Given the description of an element on the screen output the (x, y) to click on. 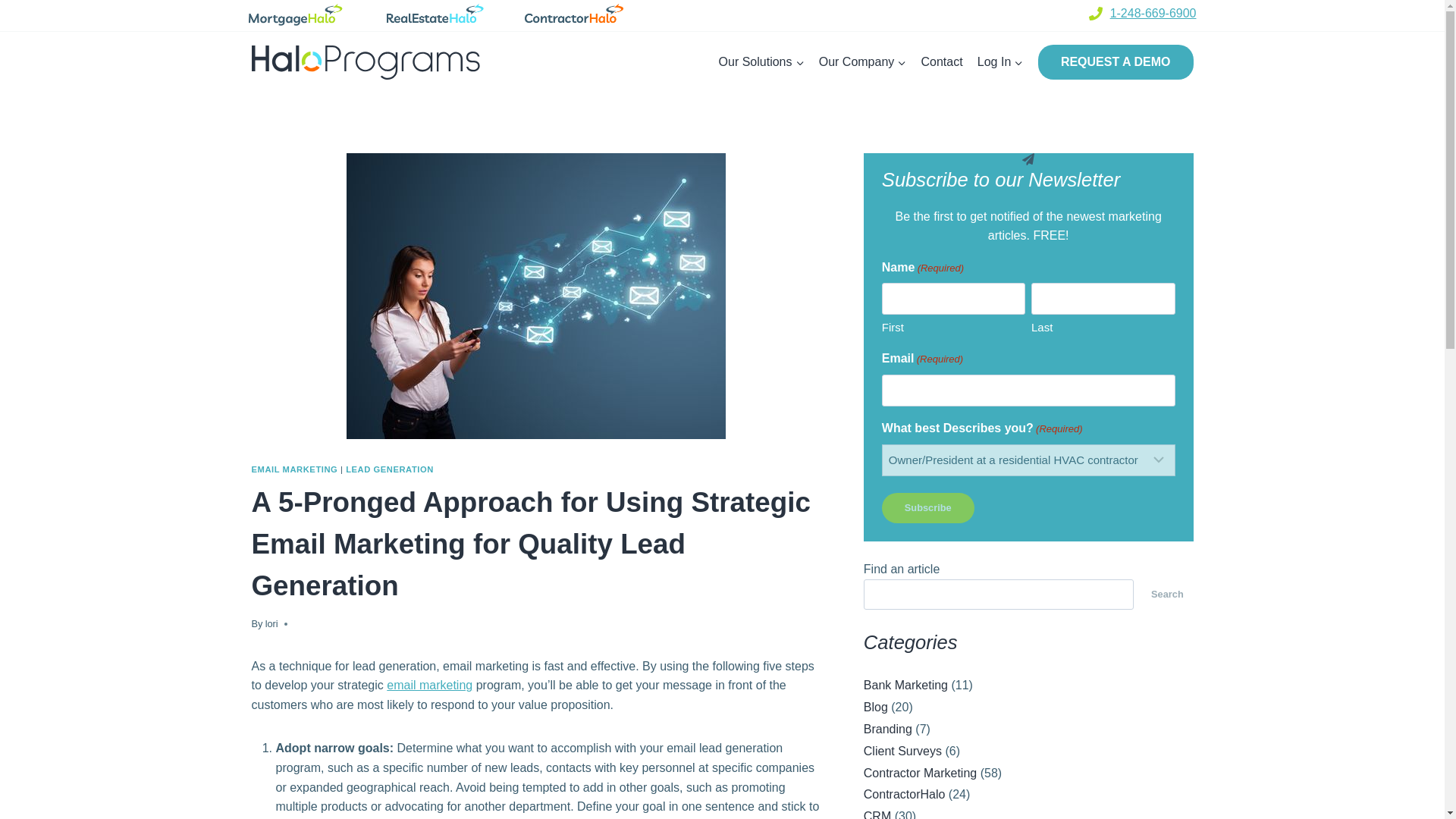
lori (271, 623)
1-248-669-6900 (1152, 12)
email marketing (429, 684)
Contact (941, 62)
Log In (999, 62)
EMAIL MARKETING (294, 469)
LEAD GENERATION (389, 469)
Our Solutions (760, 62)
Our Company (862, 62)
Subscribe (928, 508)
REQUEST A DEMO (1115, 62)
